Given the description of an element on the screen output the (x, y) to click on. 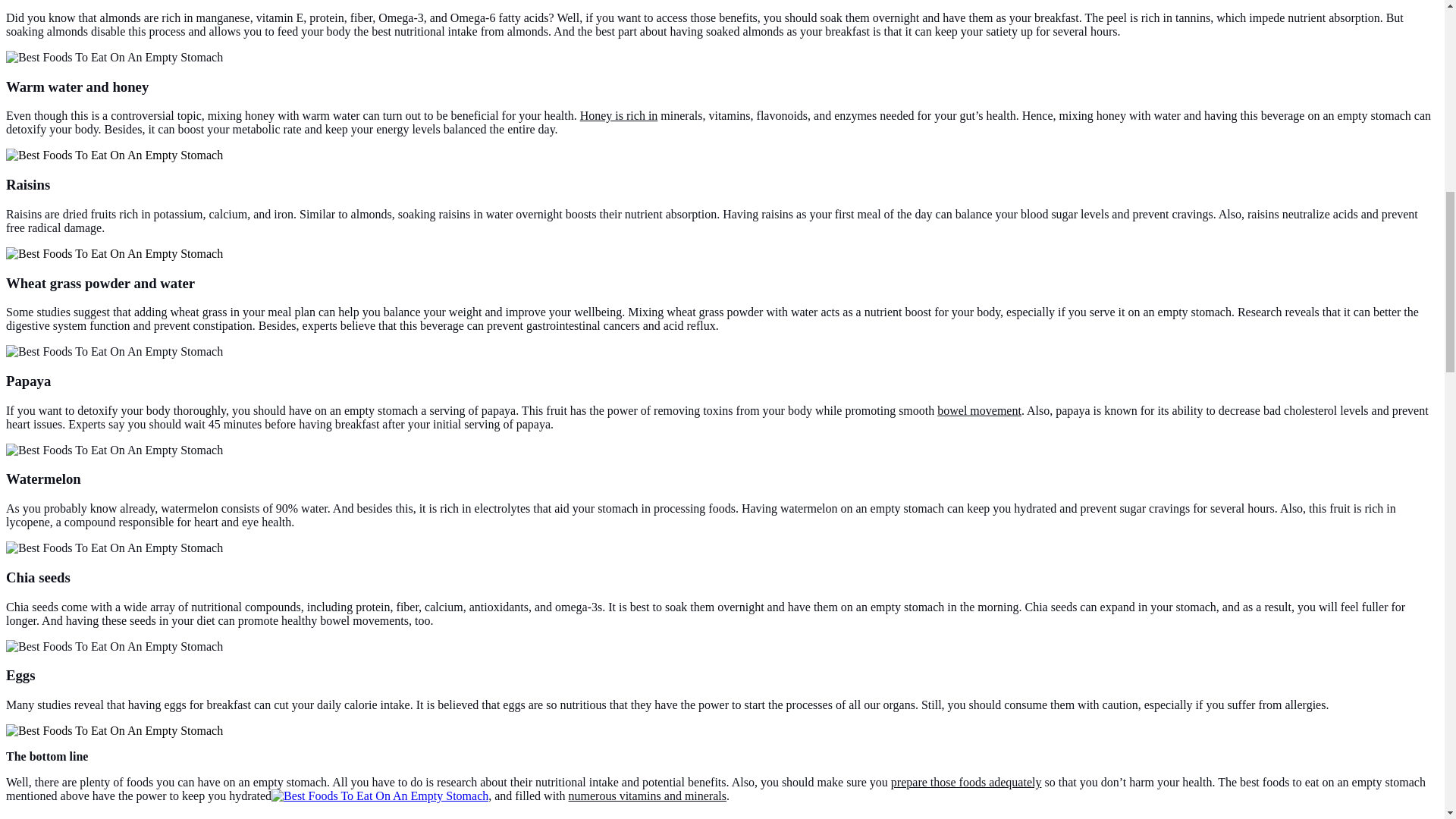
numerous vitamins and minerals (647, 795)
bowel movement (979, 410)
Honey is rich in (618, 115)
prepare those foods adequately (966, 781)
